Given the description of an element on the screen output the (x, y) to click on. 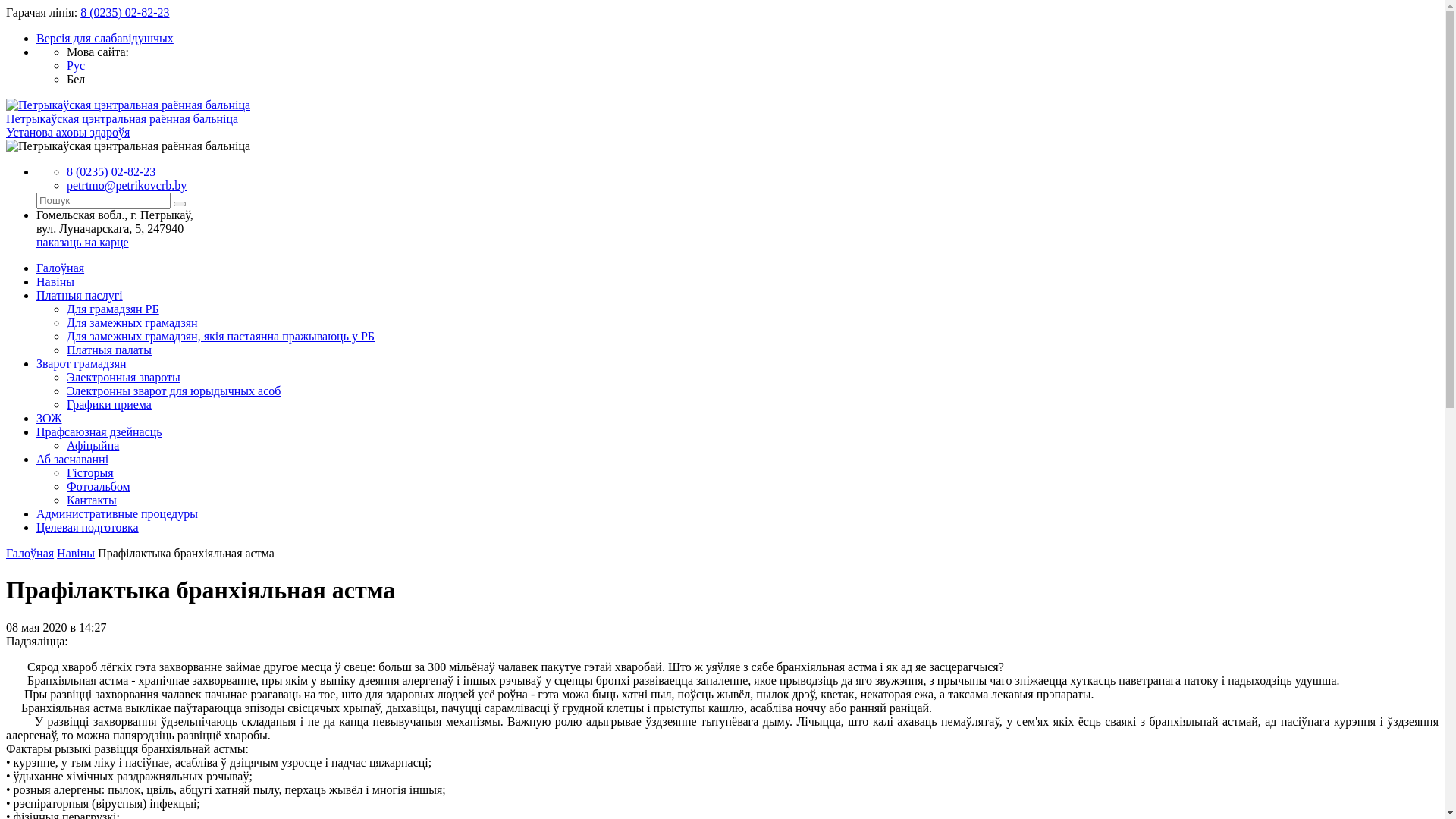
8 (0235) 02-82-23 Element type: text (124, 12)
petrtmo@petrikovcrb.by Element type: text (126, 184)
8 (0235) 02-82-23 Element type: text (110, 171)
